Given the description of an element on the screen output the (x, y) to click on. 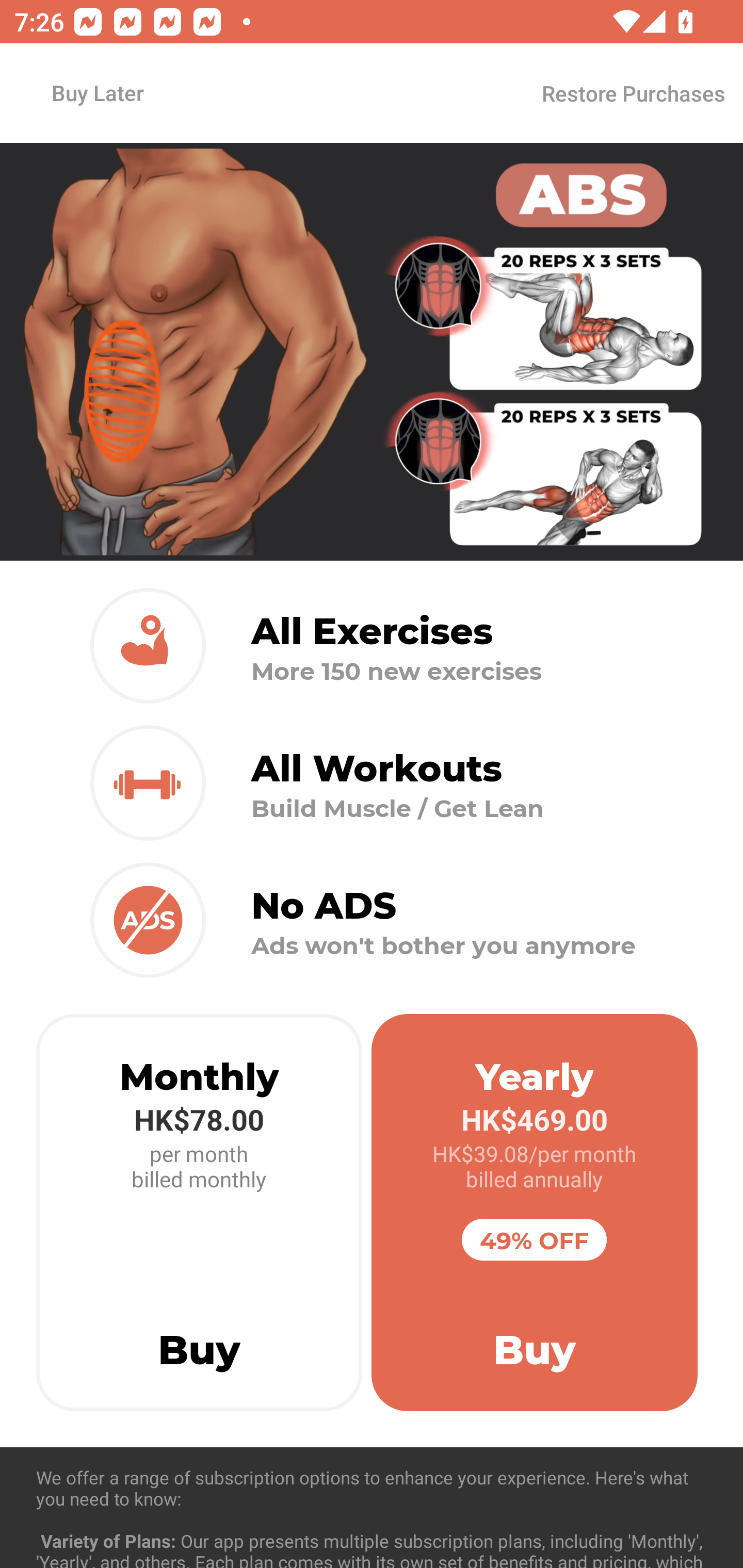
Restore Purchases (632, 92)
Buy Later (96, 92)
Monthly HK$78.00 per month
billed monthly Buy (199, 1212)
